Given the description of an element on the screen output the (x, y) to click on. 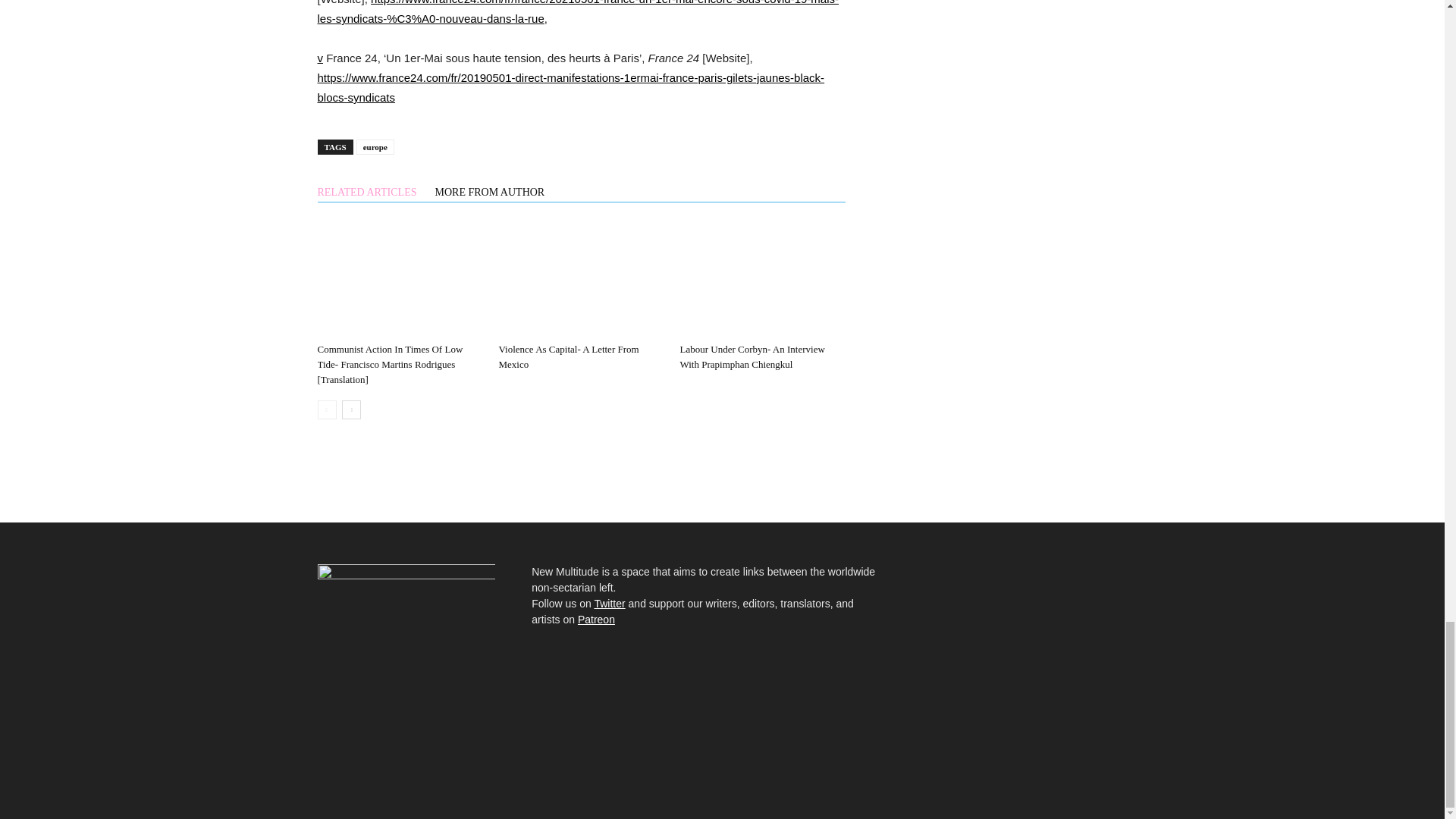
Violence As Capital- A Letter From Mexico (568, 356)
Labour Under Corbyn- an interview with Prapimphan Chiengkul (761, 279)
MORE FROM AUTHOR (490, 190)
Violence as Capital- A Letter from Mexico (580, 279)
europe (375, 146)
Labour Under Corbyn- an interview with Prapimphan Chiengkul (751, 356)
v (320, 57)
RELATED ARTICLES (371, 190)
Violence as Capital- A Letter from Mexico (568, 356)
